Given the description of an element on the screen output the (x, y) to click on. 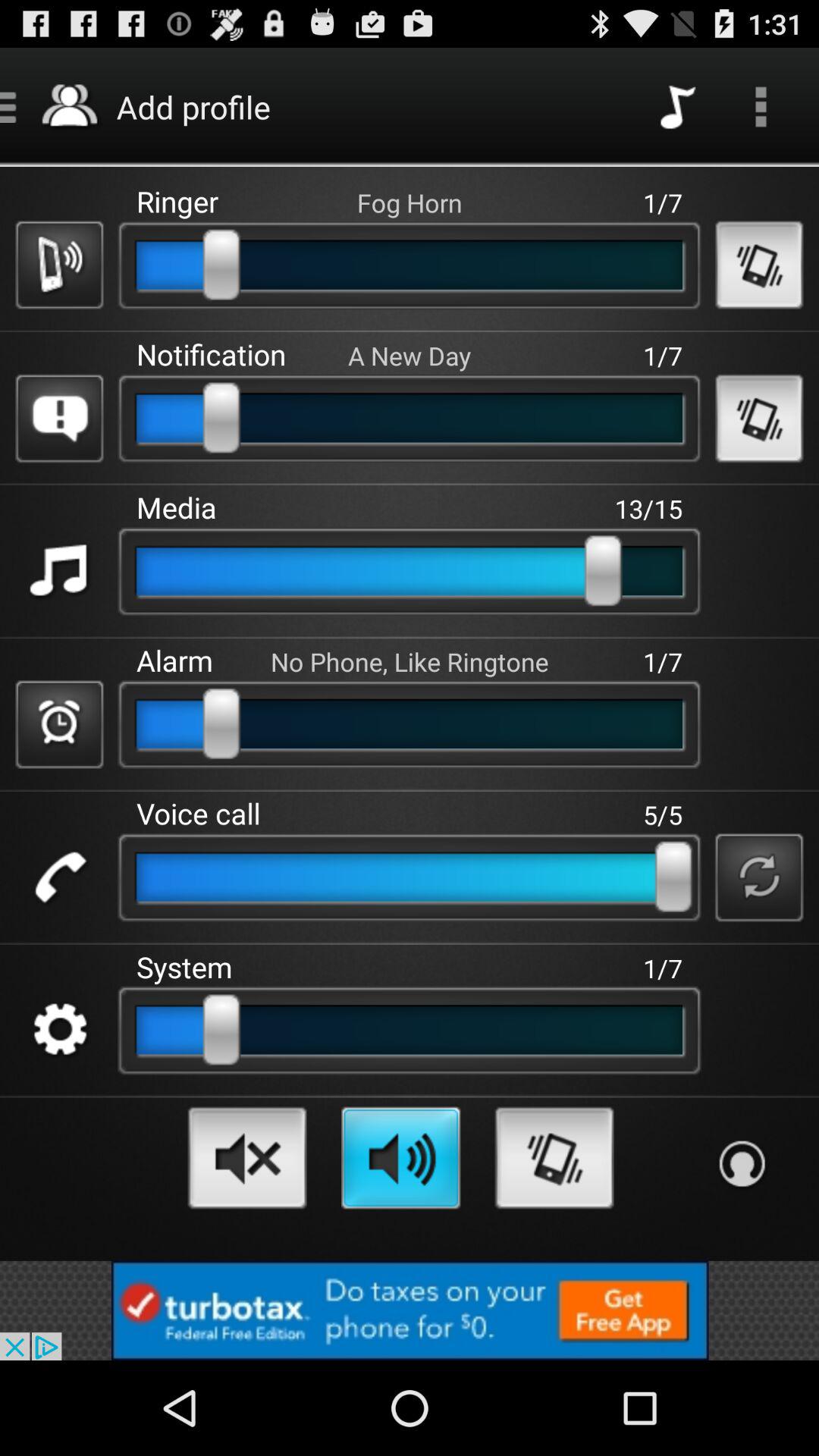
click button (59, 571)
